Given the description of an element on the screen output the (x, y) to click on. 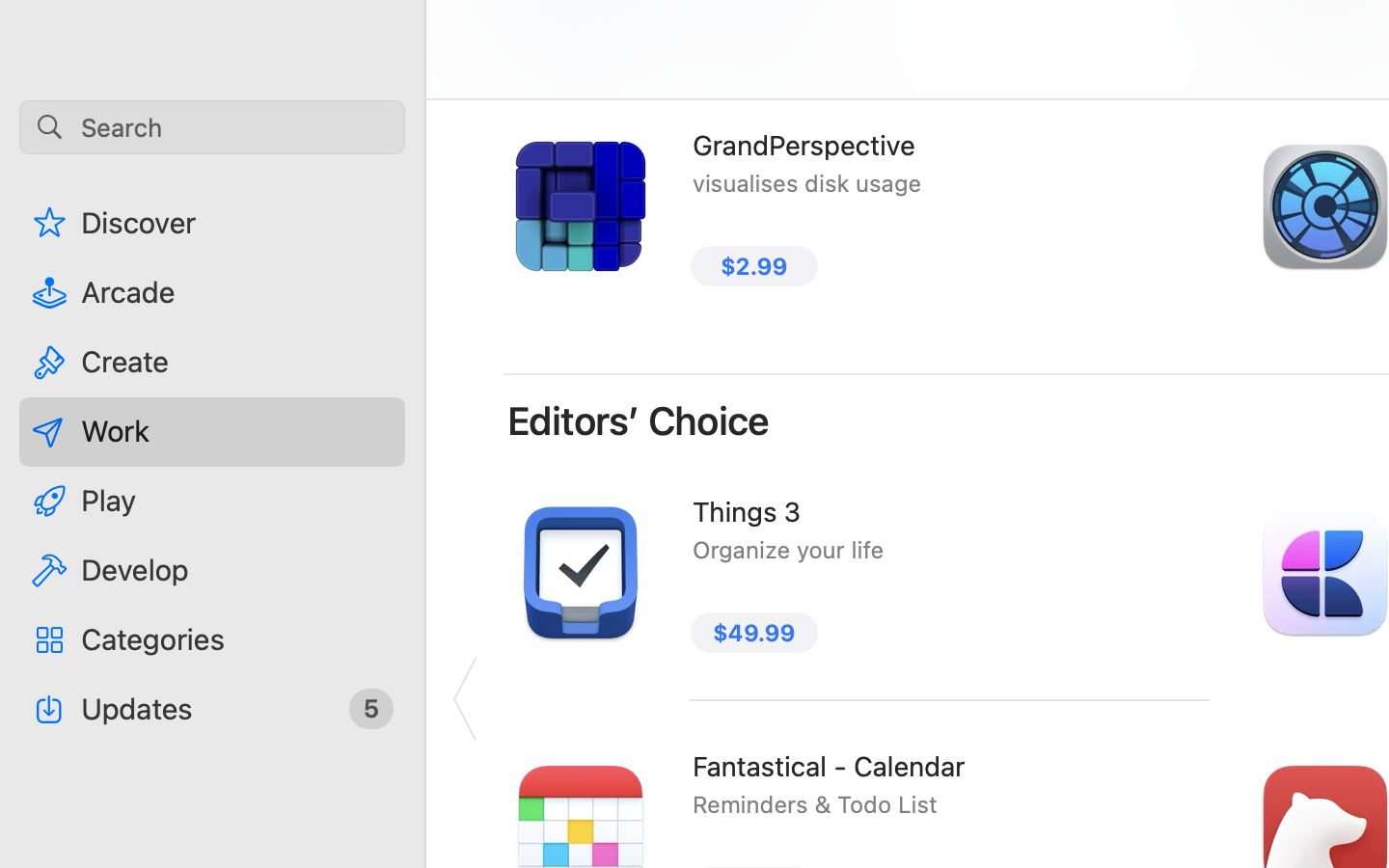
Editors’ Choice Element type: AXStaticText (638, 420)
